Given the description of an element on the screen output the (x, y) to click on. 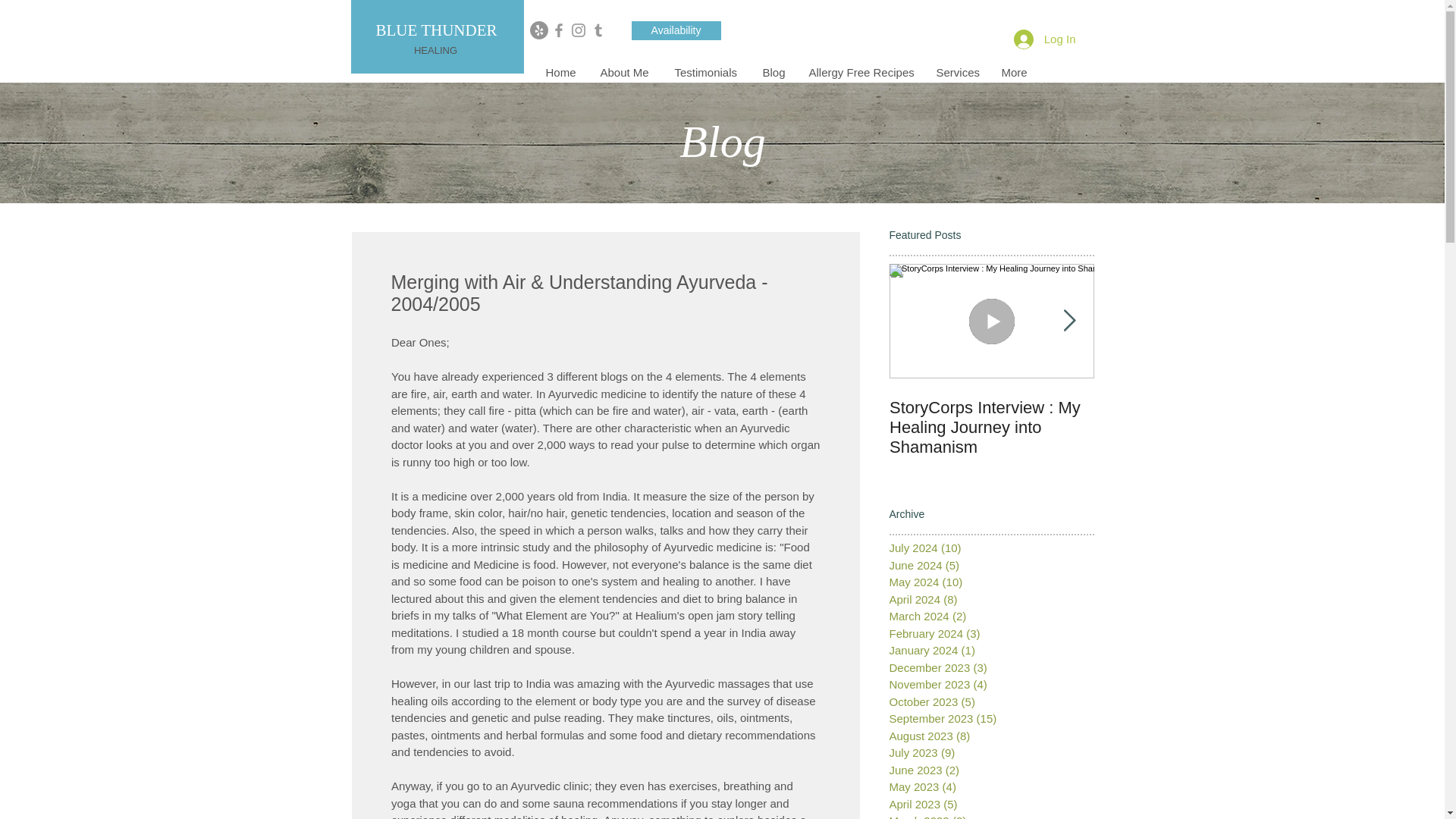
Testimonials (706, 72)
Goddess Message from Minerva: Your Beliefs (1195, 417)
Services (957, 72)
Allergy Free Recipes (860, 72)
BLUE THUNDER (435, 30)
About Me (625, 72)
Log In (1044, 38)
Blog (773, 72)
Availability (675, 30)
StoryCorps Interview : My Healing Journey into Shamanism (990, 427)
Home (561, 72)
